Given the description of an element on the screen output the (x, y) to click on. 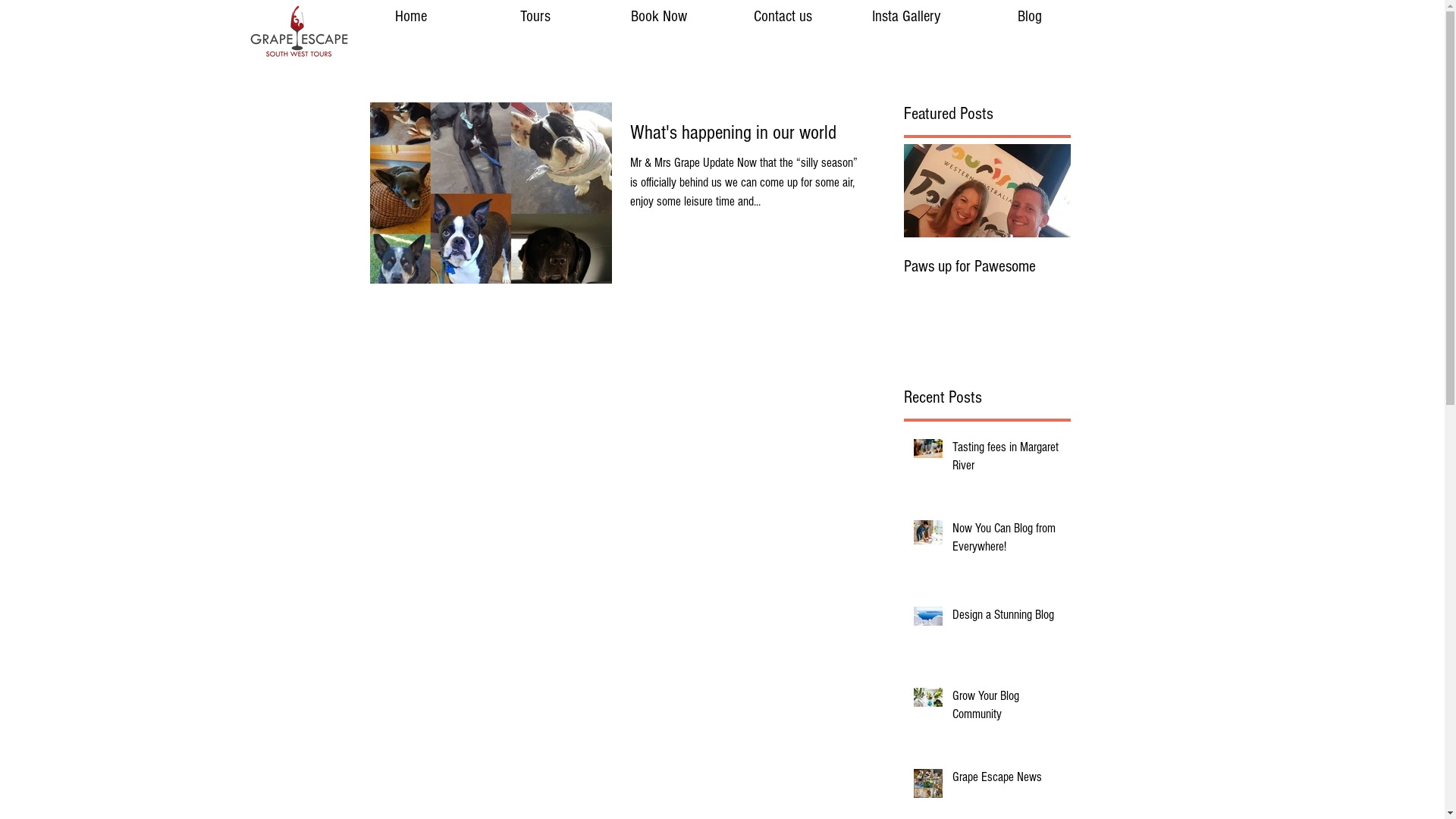
Grape Escape News Element type: text (1006, 780)
Paws up for Pawesome Element type: text (986, 266)
Home Element type: text (409, 16)
Insta Gallery Element type: text (905, 16)
Contact us Element type: text (782, 16)
Tours Element type: text (534, 16)
Blog Element type: text (1030, 16)
What's happening in our world Element type: text (744, 136)
Tasting fees in Margaret River Element type: text (1006, 459)
Book Now Element type: text (658, 16)
Now You Can Blog from Everywhere! Element type: text (1006, 540)
Grow Your Blog Community Element type: text (1006, 708)
Design a Stunning Blog Element type: text (1006, 617)
